Given the description of an element on the screen output the (x, y) to click on. 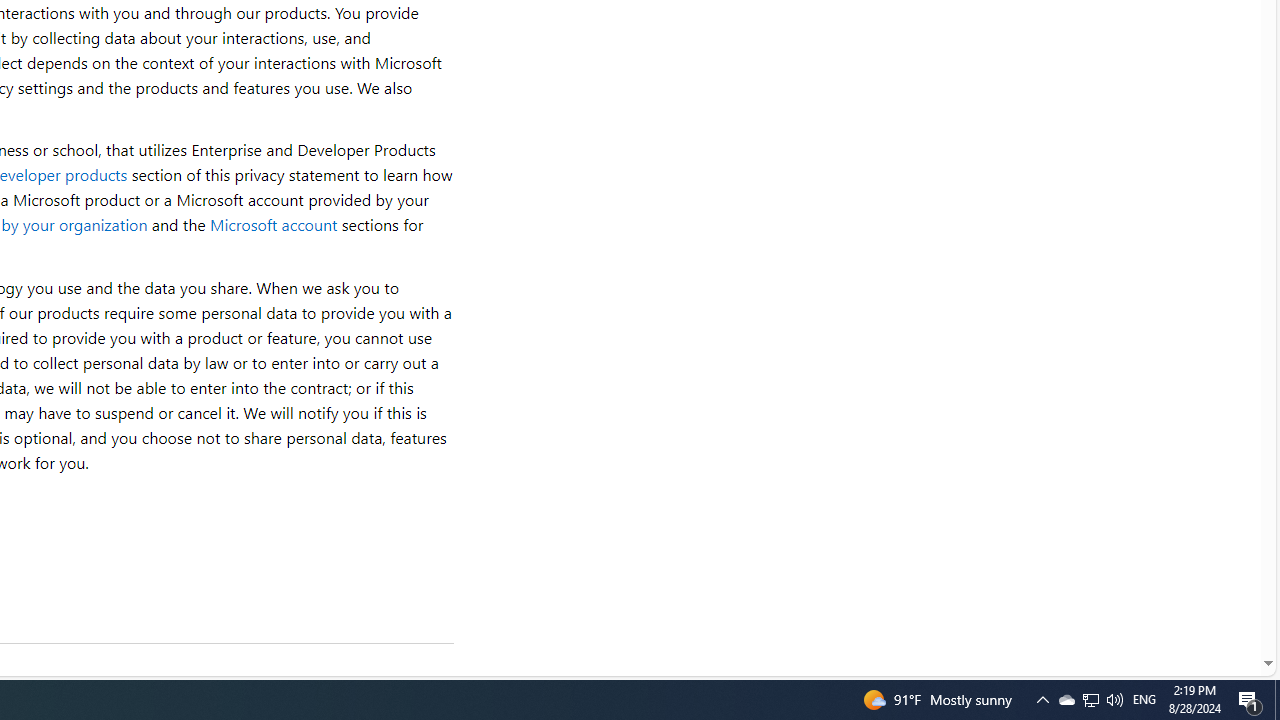
Microsoft account (273, 224)
